Given the description of an element on the screen output the (x, y) to click on. 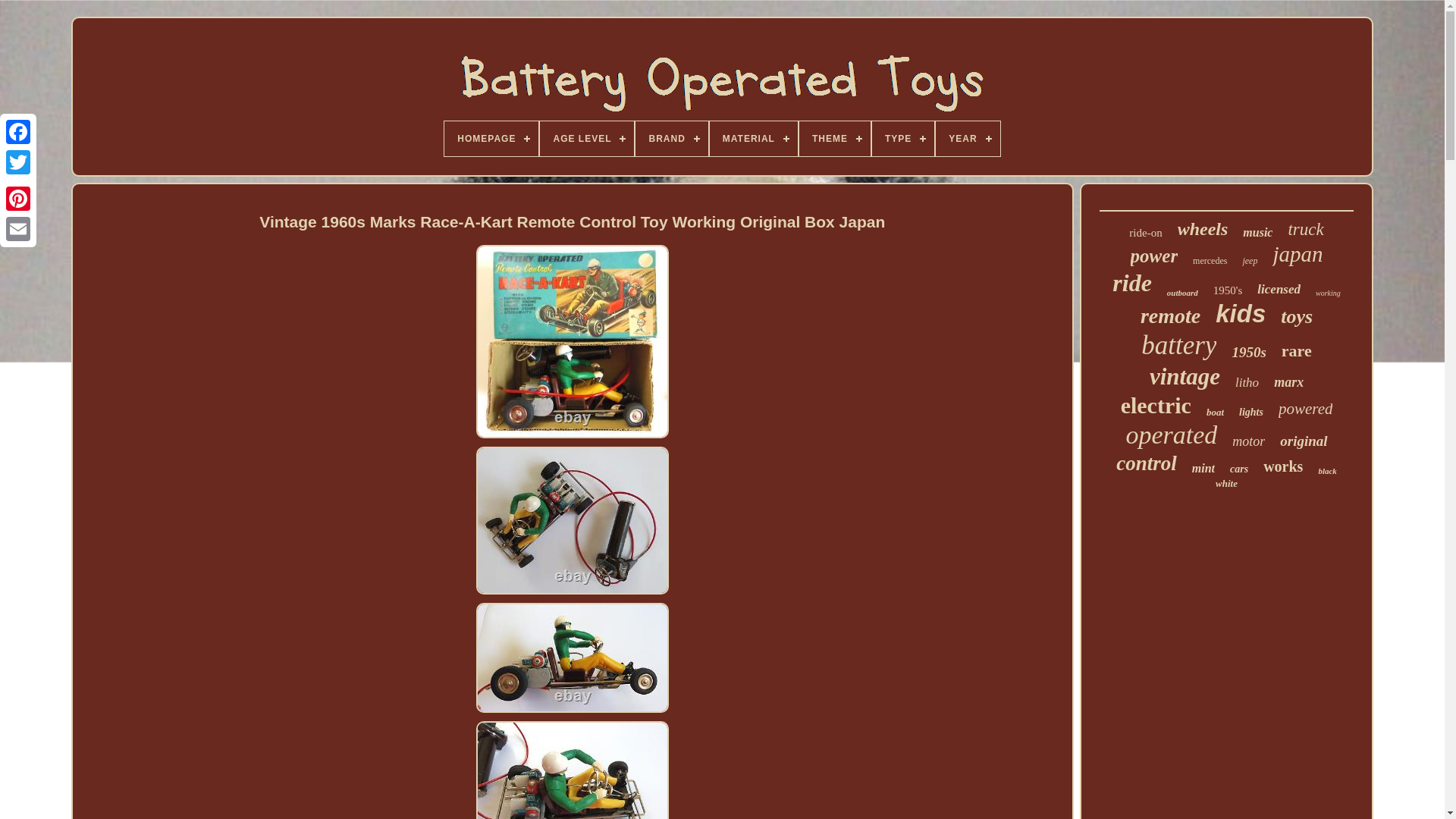
BRAND (670, 138)
AGE LEVEL (586, 138)
HOMEPAGE (491, 138)
